Given the description of an element on the screen output the (x, y) to click on. 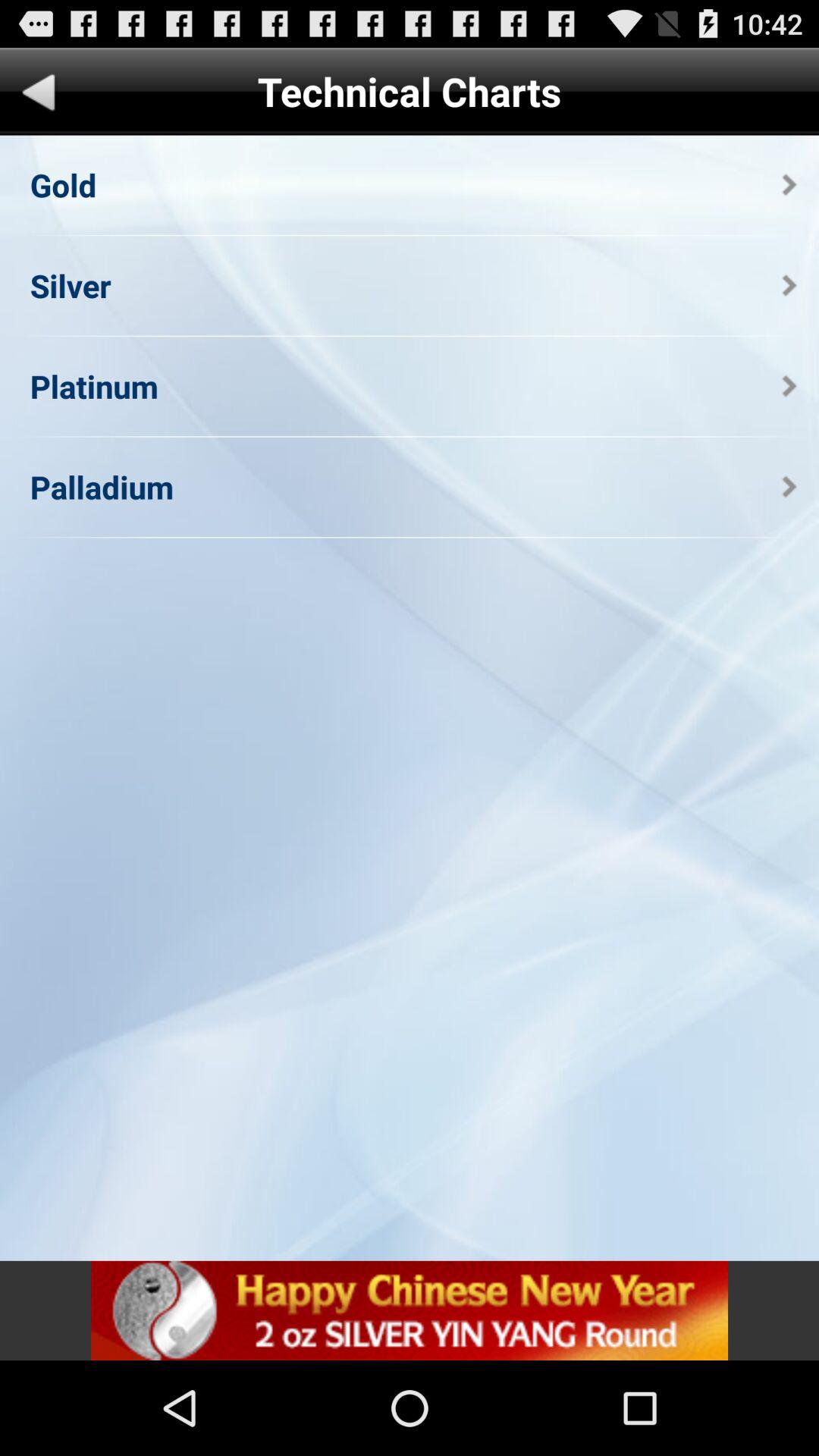
turn on the item to the right of the silver icon (789, 285)
